Given the description of an element on the screen output the (x, y) to click on. 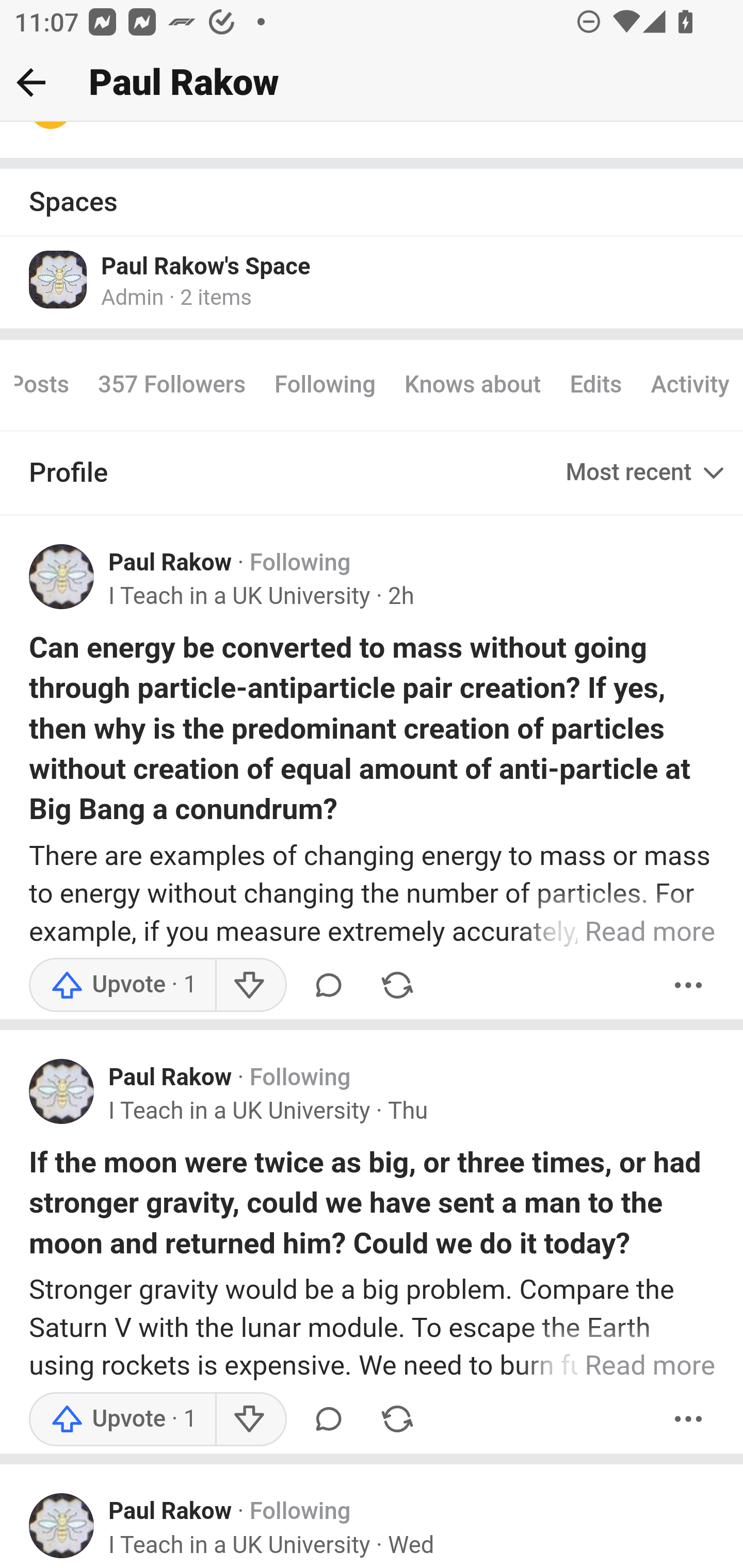
Me Home Search Add (371, 82)
Back (30, 82)
Icon for Paul Rakow's Space (58, 279)
Paul Rakow's Space (206, 267)
357 Followers (172, 386)
Following (325, 386)
Knows about (473, 386)
Edits (595, 386)
Activity (689, 386)
Most recent (647, 473)
Profile photo for Paul Rakow (61, 578)
Paul Rakow (170, 563)
Following (300, 563)
2h 2 h (400, 598)
Upvote (122, 986)
Downvote (249, 986)
Comment (328, 986)
Share (397, 986)
More (688, 986)
Profile photo for Paul Rakow (61, 1092)
Paul Rakow (170, 1078)
Following (300, 1078)
Thu (407, 1112)
Upvote (122, 1420)
Downvote (249, 1420)
Comment (328, 1420)
Share (397, 1420)
More (688, 1420)
Profile photo for Paul Rakow (61, 1527)
Paul Rakow (170, 1512)
Following (300, 1512)
Wed (410, 1546)
